Given the description of an element on the screen output the (x, y) to click on. 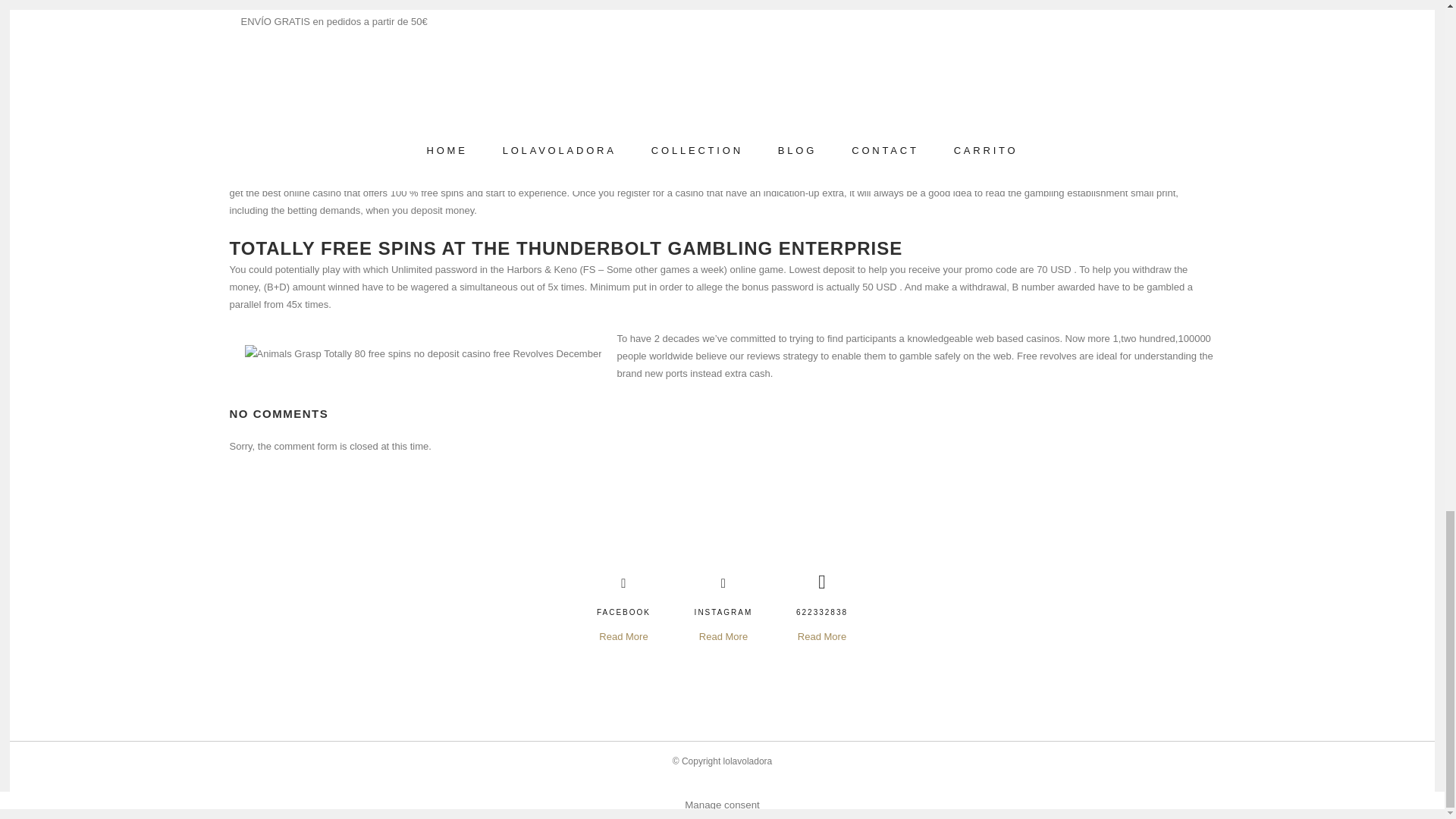
Read More (622, 637)
Read More (821, 637)
lolavoladora (748, 760)
Read More (723, 637)
